Given the description of an element on the screen output the (x, y) to click on. 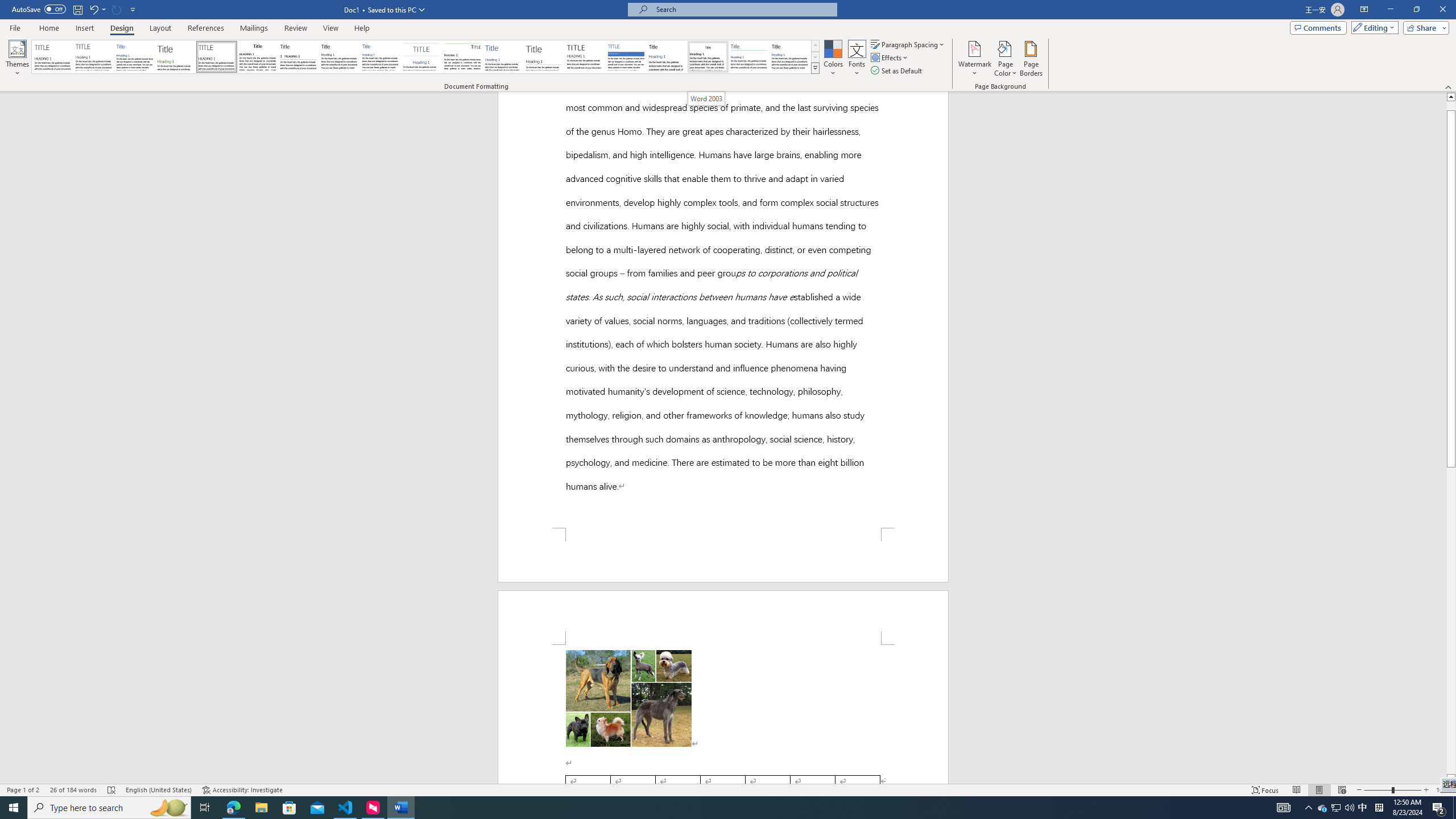
Watermark (974, 58)
Lines (Stylish) (544, 56)
Black & White (Word 2013) (338, 56)
Undo Apply Quick Style Set (96, 9)
Page down (1450, 620)
Document (52, 56)
Word 2003 (706, 98)
Themes (17, 58)
Can't Repeat (117, 9)
Paragraph Spacing (908, 44)
Effects (890, 56)
